Given the description of an element on the screen output the (x, y) to click on. 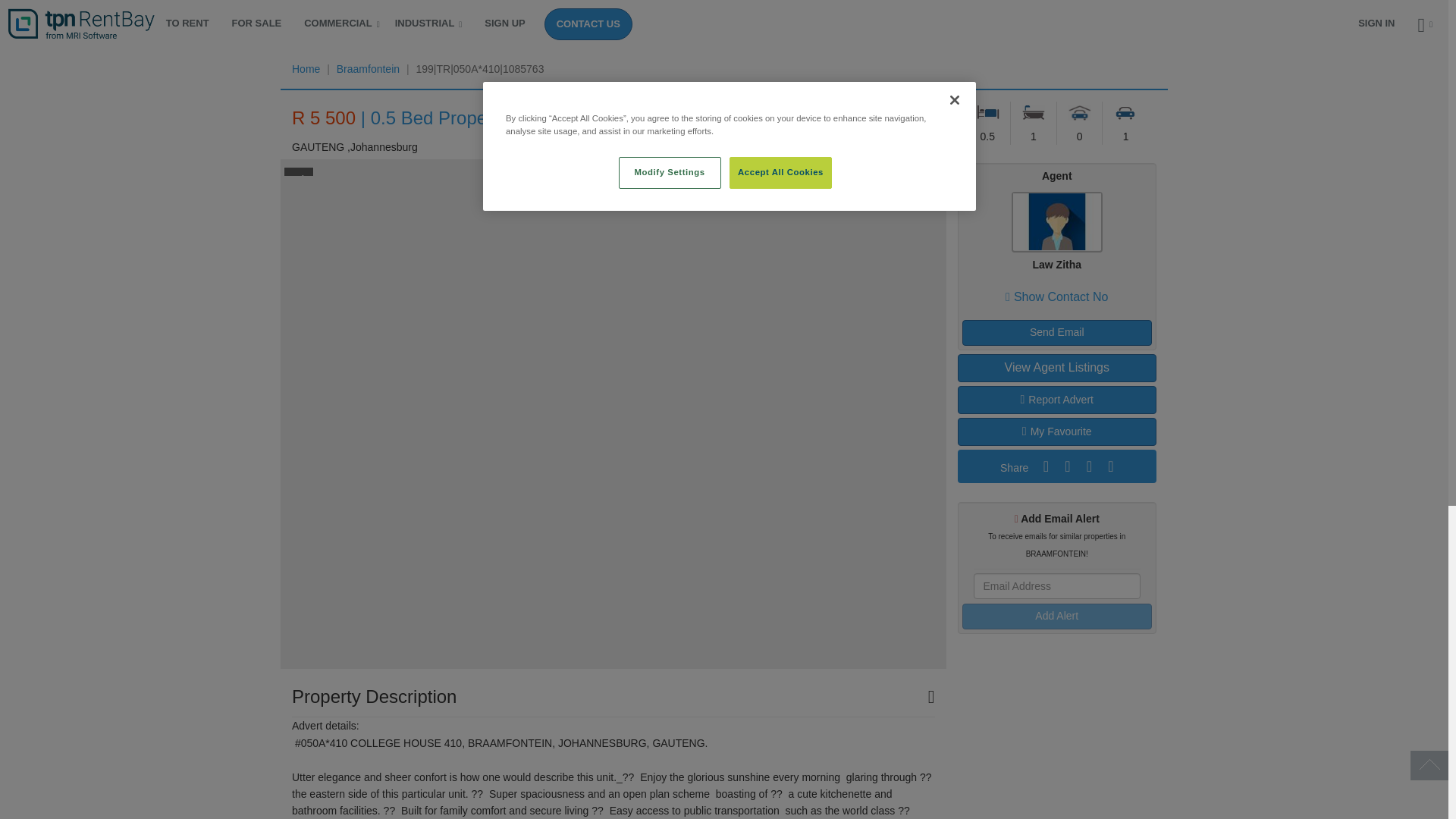
CONTACT US (587, 24)
SIGN UP (504, 23)
FOR SALE (257, 23)
Share using WhatsApp (1109, 466)
Report Advert (1056, 399)
Report Advert (1056, 399)
Show Contact No (1057, 296)
SIGN IN (1376, 23)
